Given the description of an element on the screen output the (x, y) to click on. 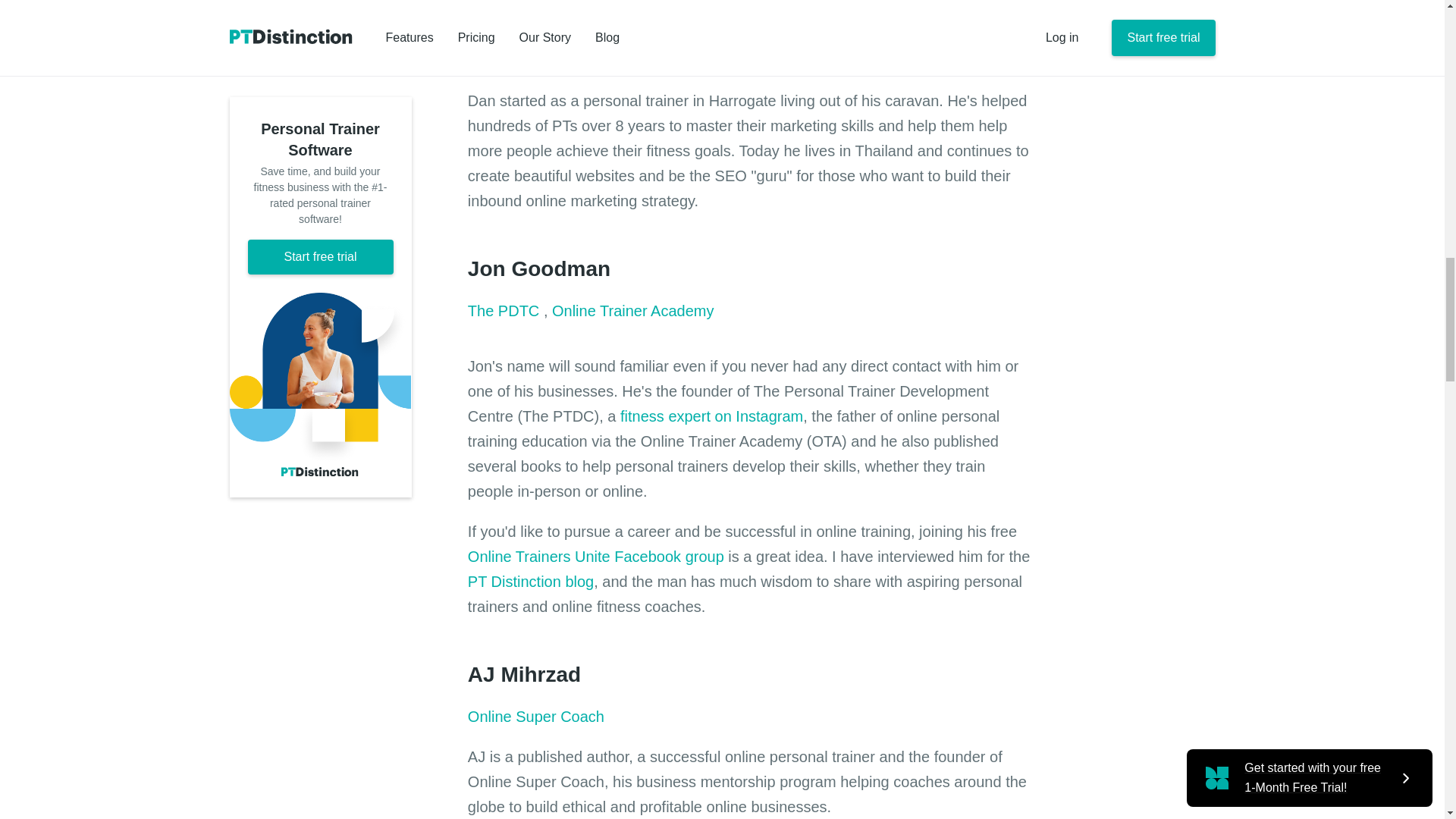
Online Trainer Academy (632, 310)
fitness expert on Instagram (711, 416)
The PDTC (505, 310)
PT Distinction blog (530, 581)
Online Super Coach (535, 716)
Online Trainers Unite Facebook group (595, 556)
